Given the description of an element on the screen output the (x, y) to click on. 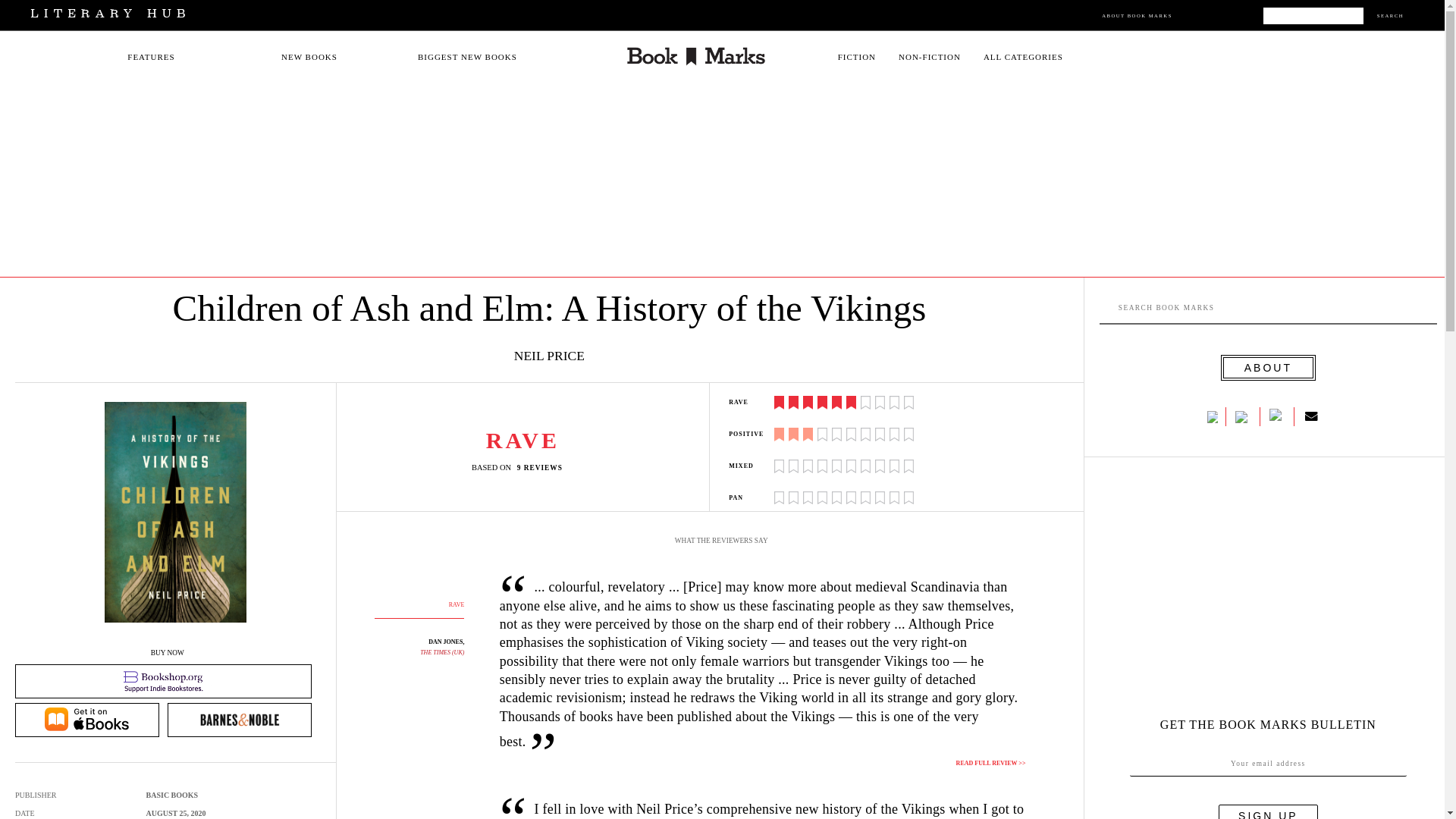
SEARCH (1390, 15)
NON-FICTION (929, 56)
ABOUT BOOK MARKS (1137, 15)
ALL CATEGORIES (1023, 56)
DAN JONES, (446, 641)
BIGGEST NEW BOOKS (466, 56)
FICTION (857, 56)
